Given the description of an element on the screen output the (x, y) to click on. 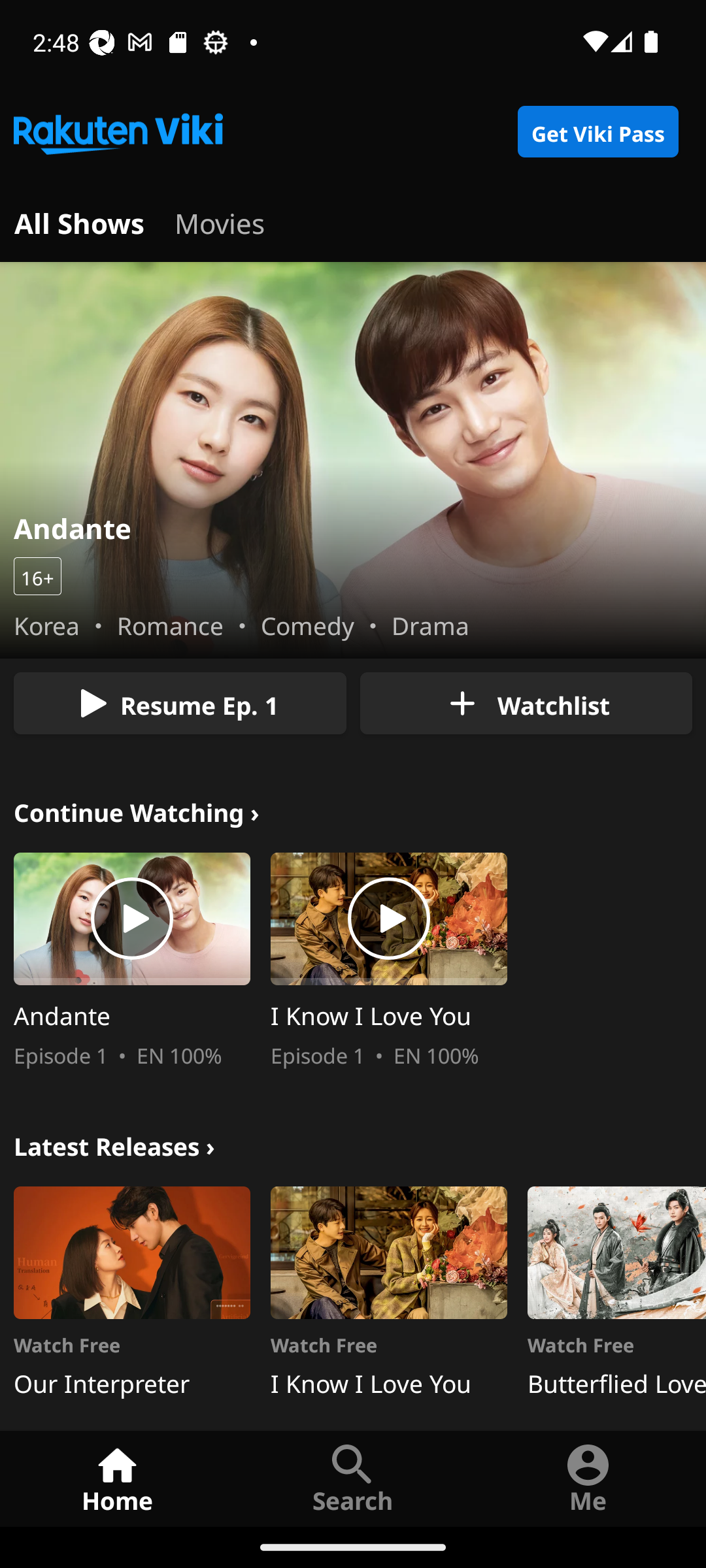
Get Viki Pass (597, 131)
home_tab_movies Movies (219, 220)
Resume Ep. 1 home_billboard_play_button (179, 702)
Watchlist home_billboard_add_to_watchlist_button (526, 702)
Continue Watching › continue_watching (136, 809)
Latest Releases › all_new (114, 1143)
Search (352, 1478)
Me (588, 1478)
